Given the description of an element on the screen output the (x, y) to click on. 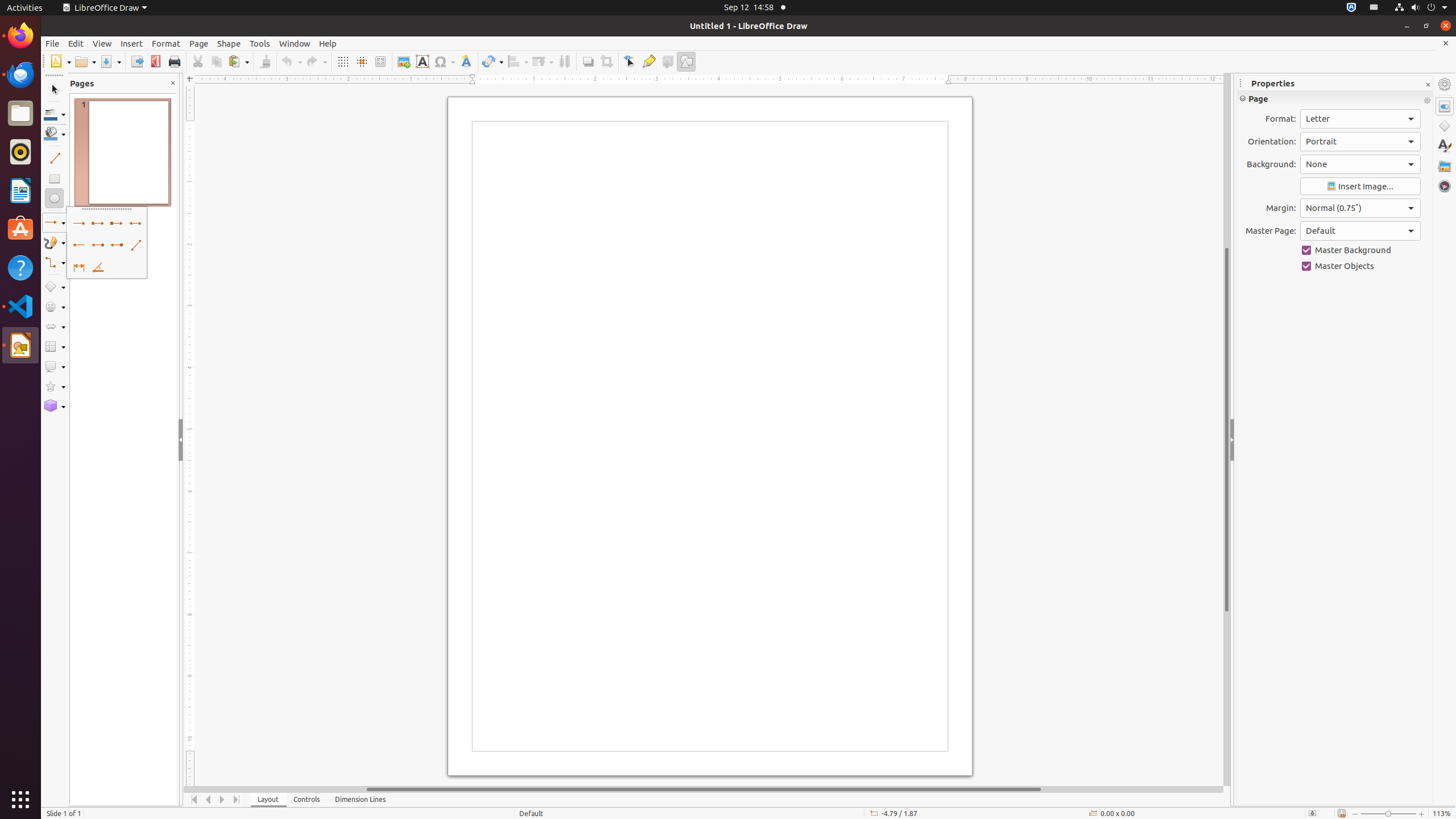
Grid Element type: toggle-button (342, 61)
Vertical scroll bar Element type: scroll-bar (1226, 429)
Tools Element type: menu (259, 43)
Draw Functions Element type: toggle-button (685, 61)
Move Right Element type: push-button (222, 799)
